Given the description of an element on the screen output the (x, y) to click on. 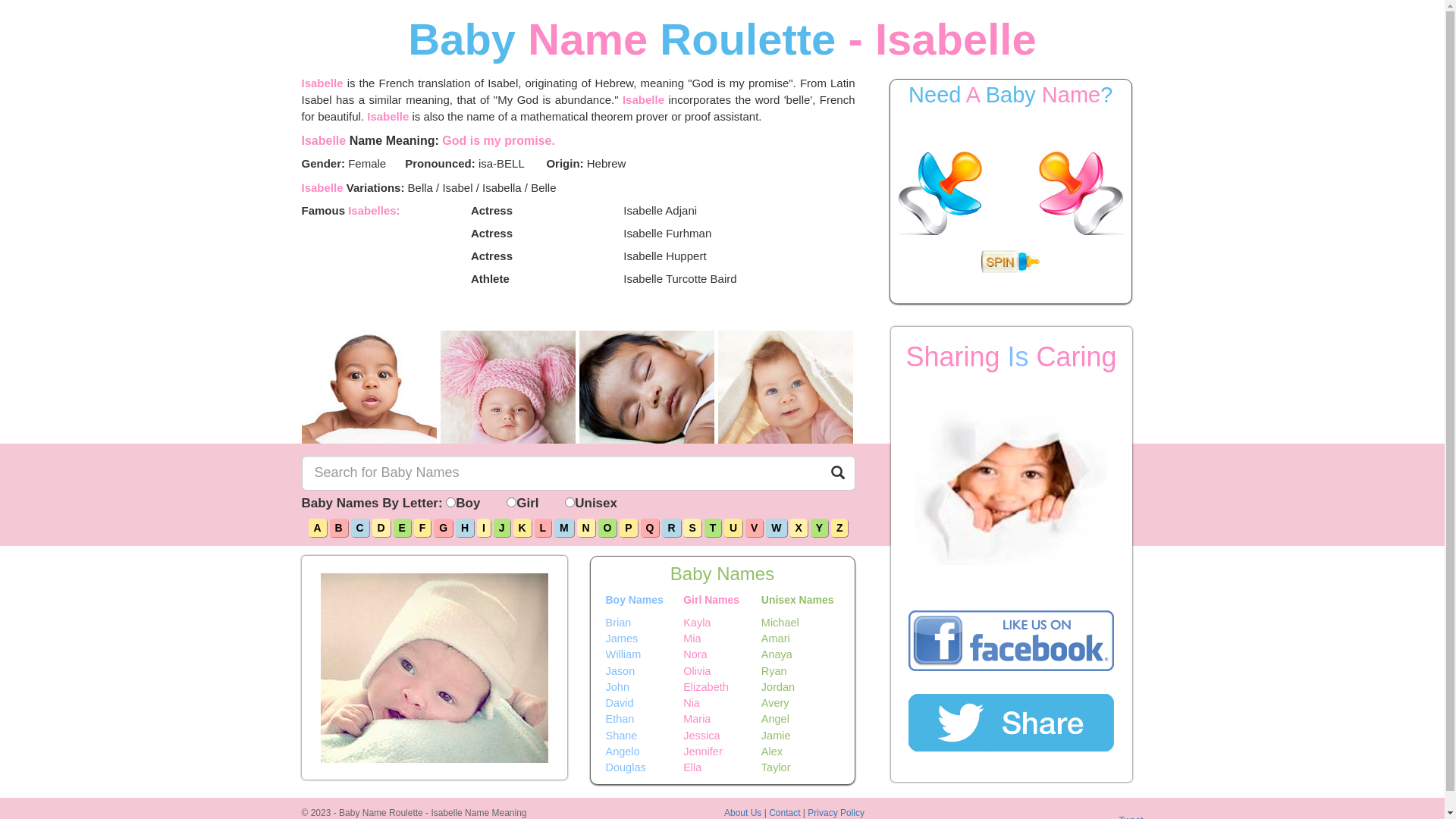
Taylor Element type: text (800, 767)
Maria Element type: text (722, 719)
W Element type: text (775, 527)
Ella Element type: text (722, 767)
James Element type: text (644, 638)
Michael Element type: text (800, 622)
R Element type: text (671, 527)
I Element type: text (483, 527)
Brian Element type: text (644, 622)
J Element type: text (501, 527)
Isabelle Name Meaning Element type: hover (508, 386)
U Element type: text (733, 527)
S Element type: text (691, 527)
Nora Element type: text (722, 654)
Baby Name Meaning Isabelle Element type: hover (647, 386)
Z Element type: text (839, 527)
Ethan Element type: text (644, 719)
Girl Names Element type: text (722, 600)
Angelo Element type: text (644, 751)
Y Element type: text (819, 527)
Jamie Element type: text (800, 735)
Isabelle Baby Name Meaning Element type: hover (785, 386)
H Element type: text (464, 527)
Privacy Policy Element type: text (835, 812)
Unisex Names Element type: text (800, 600)
Anaya Element type: text (800, 654)
Jason Element type: text (644, 670)
N Element type: text (586, 527)
C Element type: text (360, 527)
E Element type: text (402, 527)
Mia Element type: text (722, 638)
G Element type: text (442, 527)
Elizabeth Element type: text (722, 687)
K Element type: text (522, 527)
O Element type: text (607, 527)
Olivia Element type: text (722, 670)
Douglas Element type: text (644, 767)
Amari Element type: text (800, 638)
A Element type: text (317, 527)
M Element type: text (564, 527)
Nia Element type: text (722, 703)
Boy Names Element type: text (644, 600)
William Element type: text (644, 654)
X Element type: text (797, 527)
Kayla Element type: text (722, 622)
Q Element type: text (649, 527)
About Us Element type: text (742, 812)
Jordan Element type: text (800, 687)
B Element type: text (338, 527)
F Element type: text (422, 527)
P Element type: text (628, 527)
Jessica Element type: text (722, 735)
Ryan Element type: text (800, 670)
Alex Element type: text (800, 751)
T Element type: text (712, 527)
V Element type: text (753, 527)
John Element type: text (644, 687)
Contact Element type: text (784, 812)
Jennifer Element type: text (722, 751)
Shane Element type: text (644, 735)
Avery Element type: text (800, 703)
Angel Element type: text (800, 719)
Name Meaning Isabelle Element type: hover (369, 386)
David Element type: text (644, 703)
L Element type: text (543, 527)
D Element type: text (381, 527)
